Given the description of an element on the screen output the (x, y) to click on. 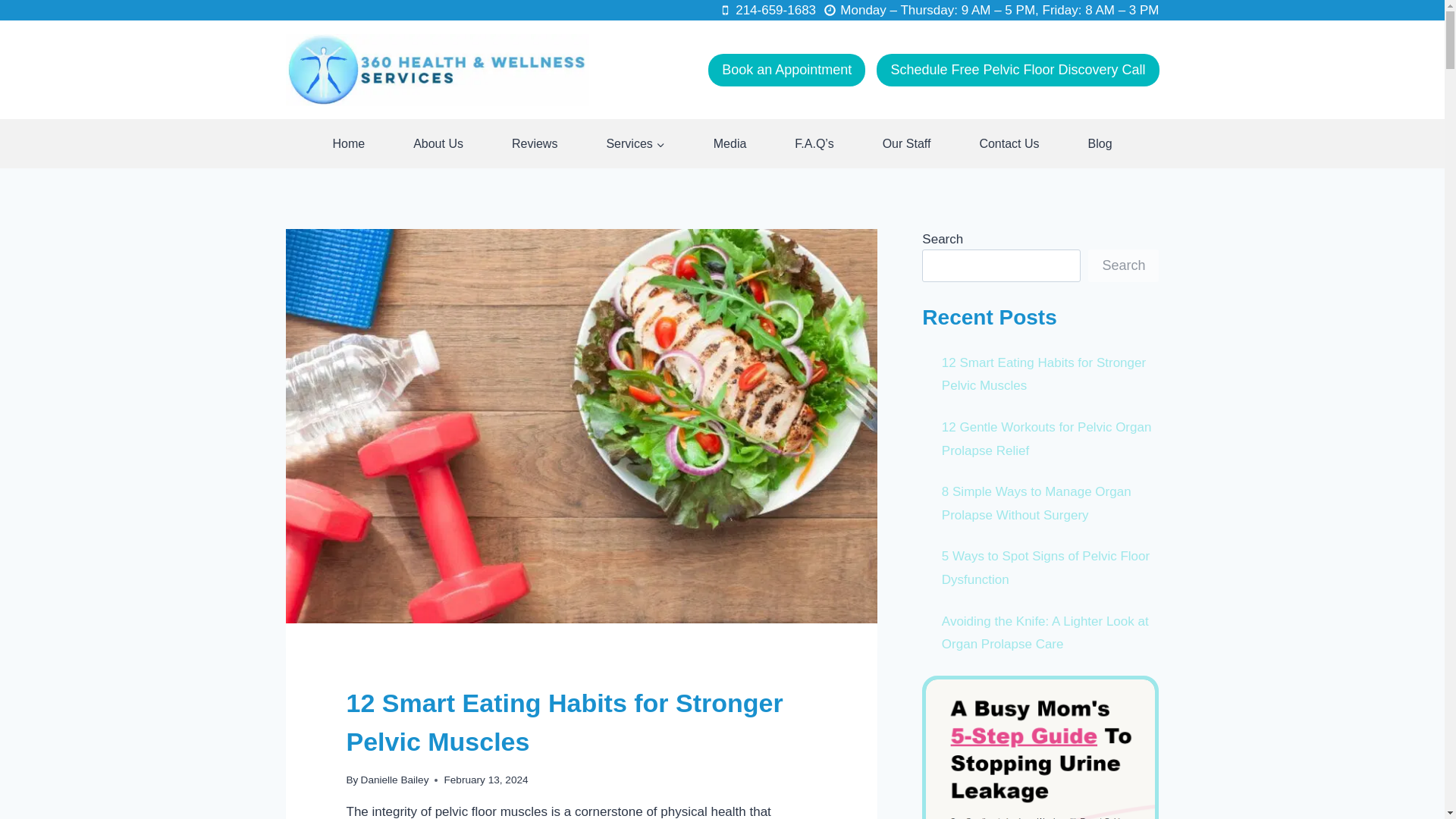
Blog (1100, 143)
Schedule Free Pelvic Floor Discovery Call (1017, 70)
Our Staff (907, 143)
Services (634, 143)
Contact Us (1008, 143)
Home (347, 143)
About Us (437, 143)
Reviews (533, 143)
Media (729, 143)
Danielle Bailey (395, 779)
